Given the description of an element on the screen output the (x, y) to click on. 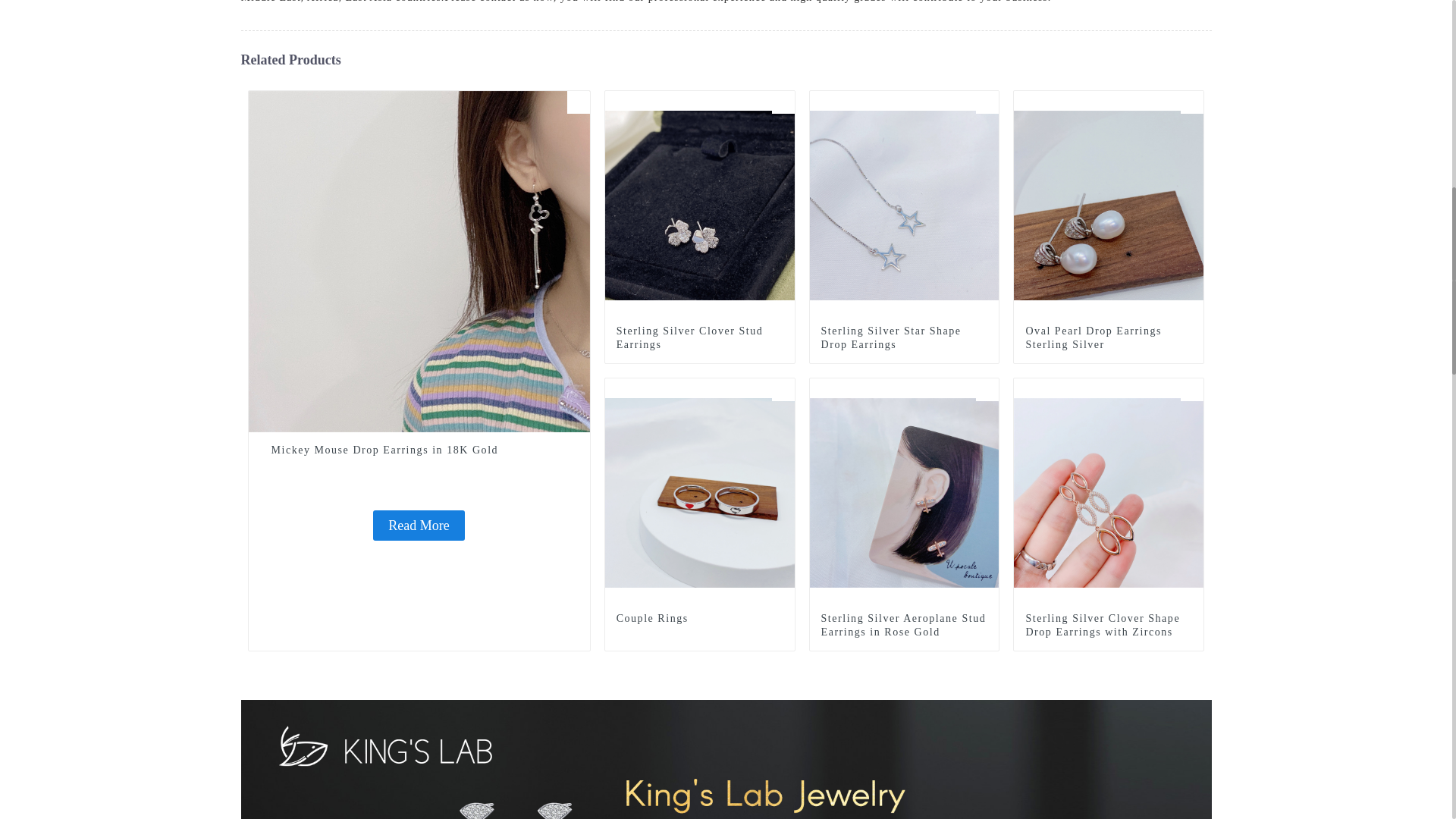
Mickey Mouse Drop Earrings in 18K Gold (418, 525)
Sterling Silver Clover Stud Earrings (699, 204)
Couple Rings (699, 491)
Oval Pearl Drop Earrings Sterling Silver (1108, 338)
20210807232547 (578, 101)
836860a5 (782, 101)
b4fef071 (1192, 101)
Sterling Silver Star Shape Drop Earrings (903, 204)
Sterling Silver Clover Stud Earrings (699, 338)
Oval Pearl Drop Earrings Sterling Silver (1108, 204)
Sterling Silver Star Shape Drop Earrings (904, 338)
efc141041 (986, 101)
Mickey Mouse Drop Earrings in 18K Gold (418, 260)
Mickey Mouse Drop Earrings in 18K Gold (418, 450)
Couple Rings (782, 389)
